Given the description of an element on the screen output the (x, y) to click on. 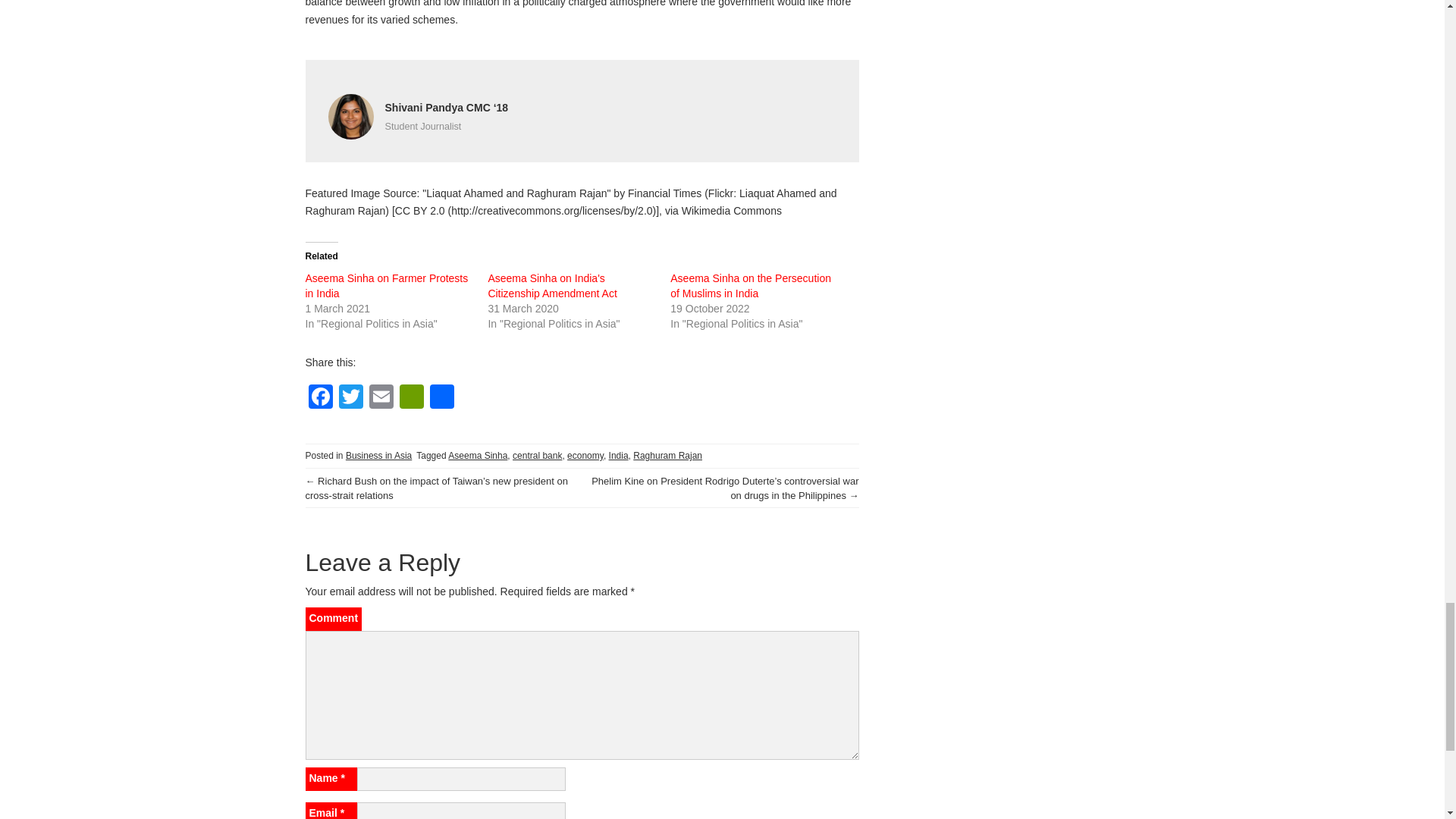
Aseema Sinha (477, 455)
Aseema Sinha on India's Citizenship Amendment Act (551, 285)
central bank (537, 455)
Business in Asia (379, 455)
India (618, 455)
PrintFriendly (411, 398)
economy (585, 455)
Facebook (319, 398)
Twitter (349, 398)
Aseema Sinha on the Persecution of Muslims in India (750, 285)
